Given the description of an element on the screen output the (x, y) to click on. 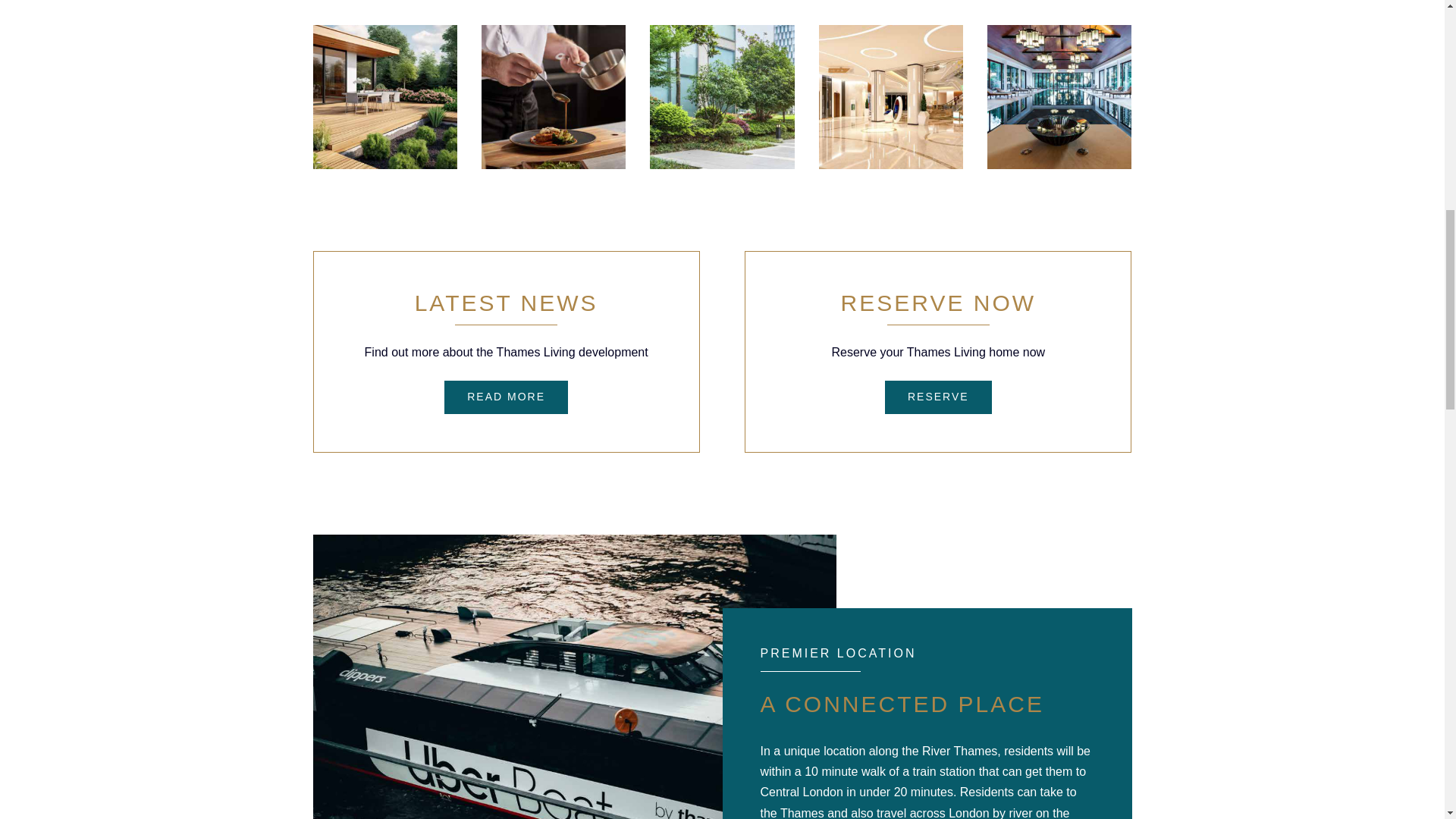
gallery1 (385, 96)
RESERVE (938, 397)
gallery3 (721, 96)
gallery5 (1059, 96)
gallery4 (890, 96)
READ MORE (505, 397)
gallery2 (553, 96)
